Given the description of an element on the screen output the (x, y) to click on. 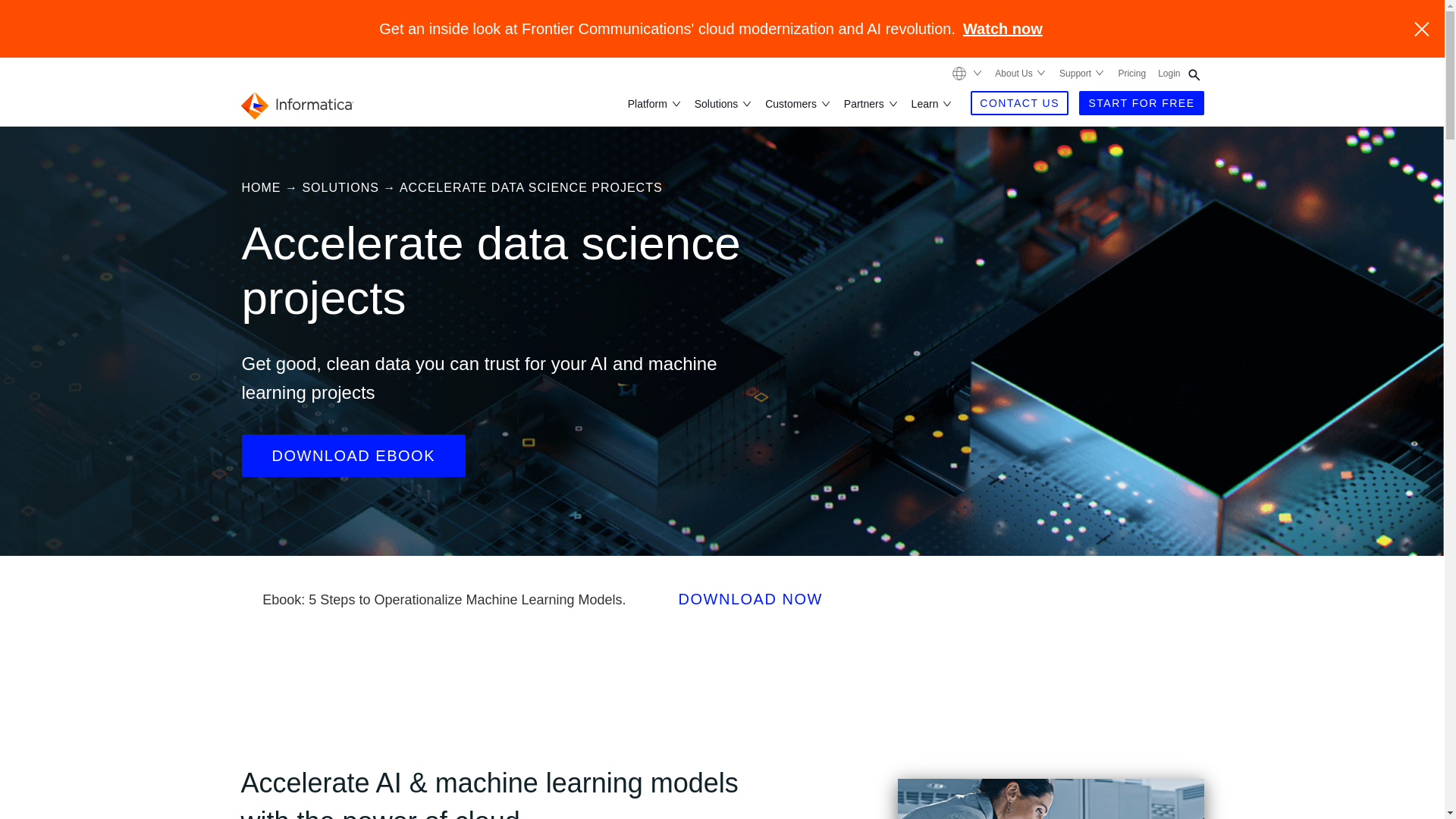
Watch now (1002, 28)
Solutions (717, 103)
Platform (648, 103)
